Given the description of an element on the screen output the (x, y) to click on. 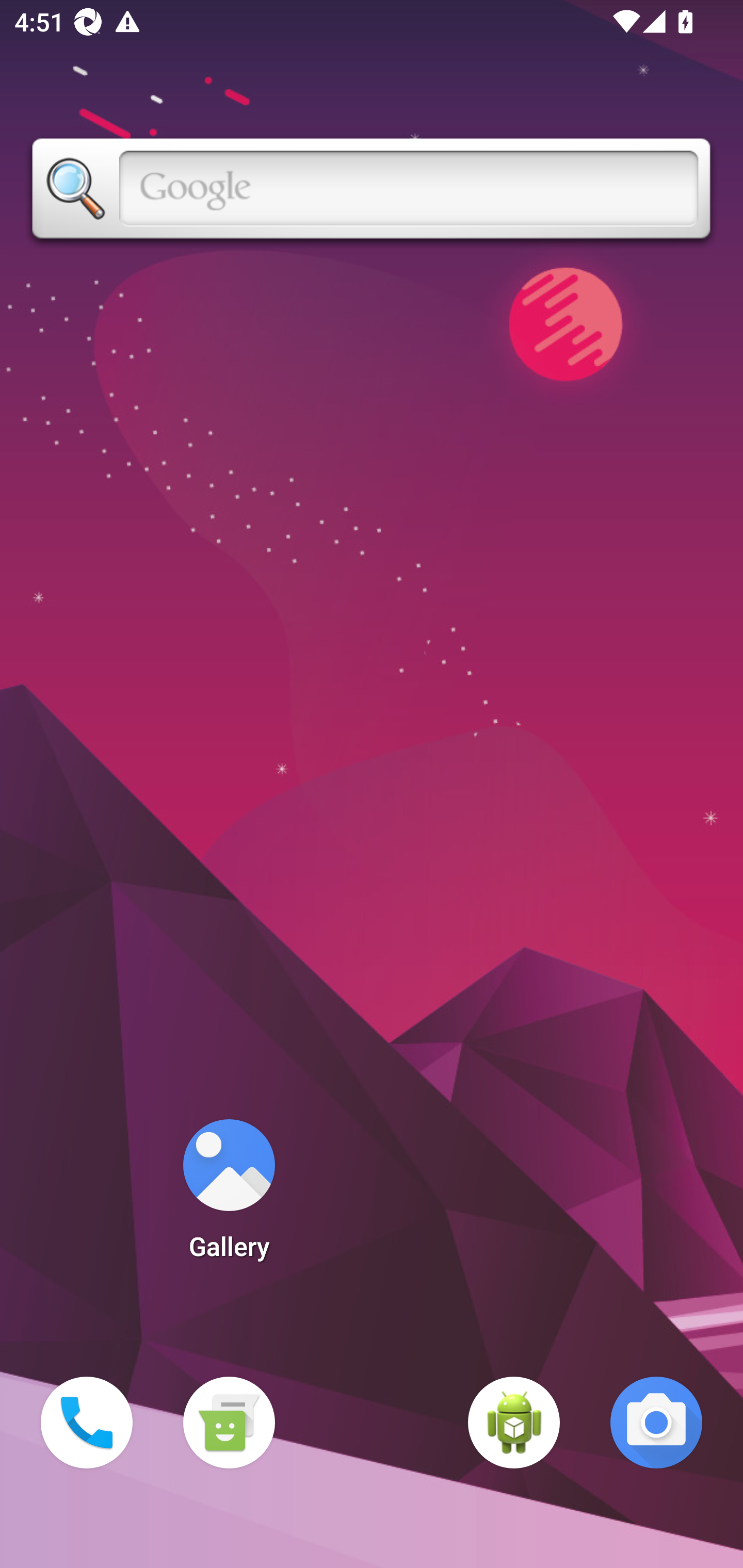
Gallery (228, 1195)
Phone (86, 1422)
Messaging (228, 1422)
WebView Browser Tester (513, 1422)
Camera (656, 1422)
